Given the description of an element on the screen output the (x, y) to click on. 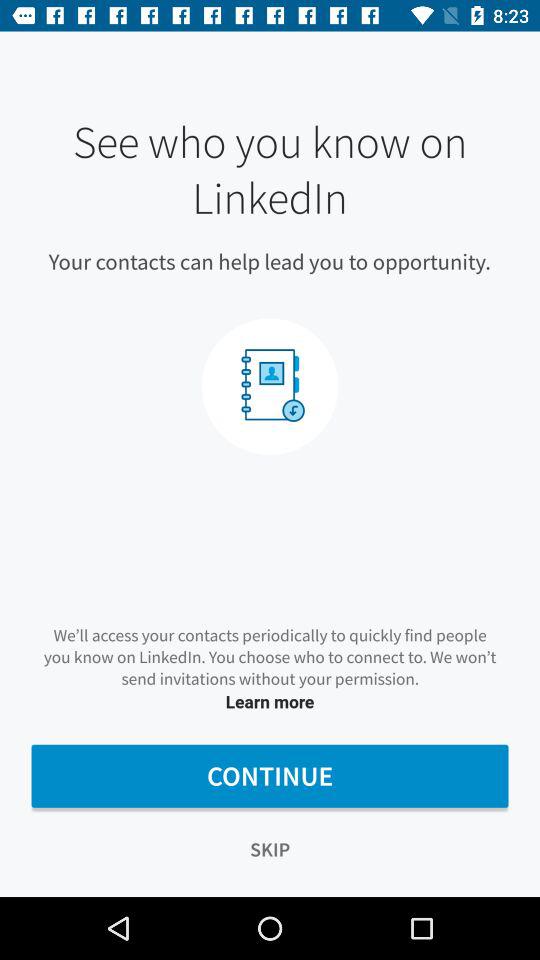
swipe to the skip item (269, 849)
